Given the description of an element on the screen output the (x, y) to click on. 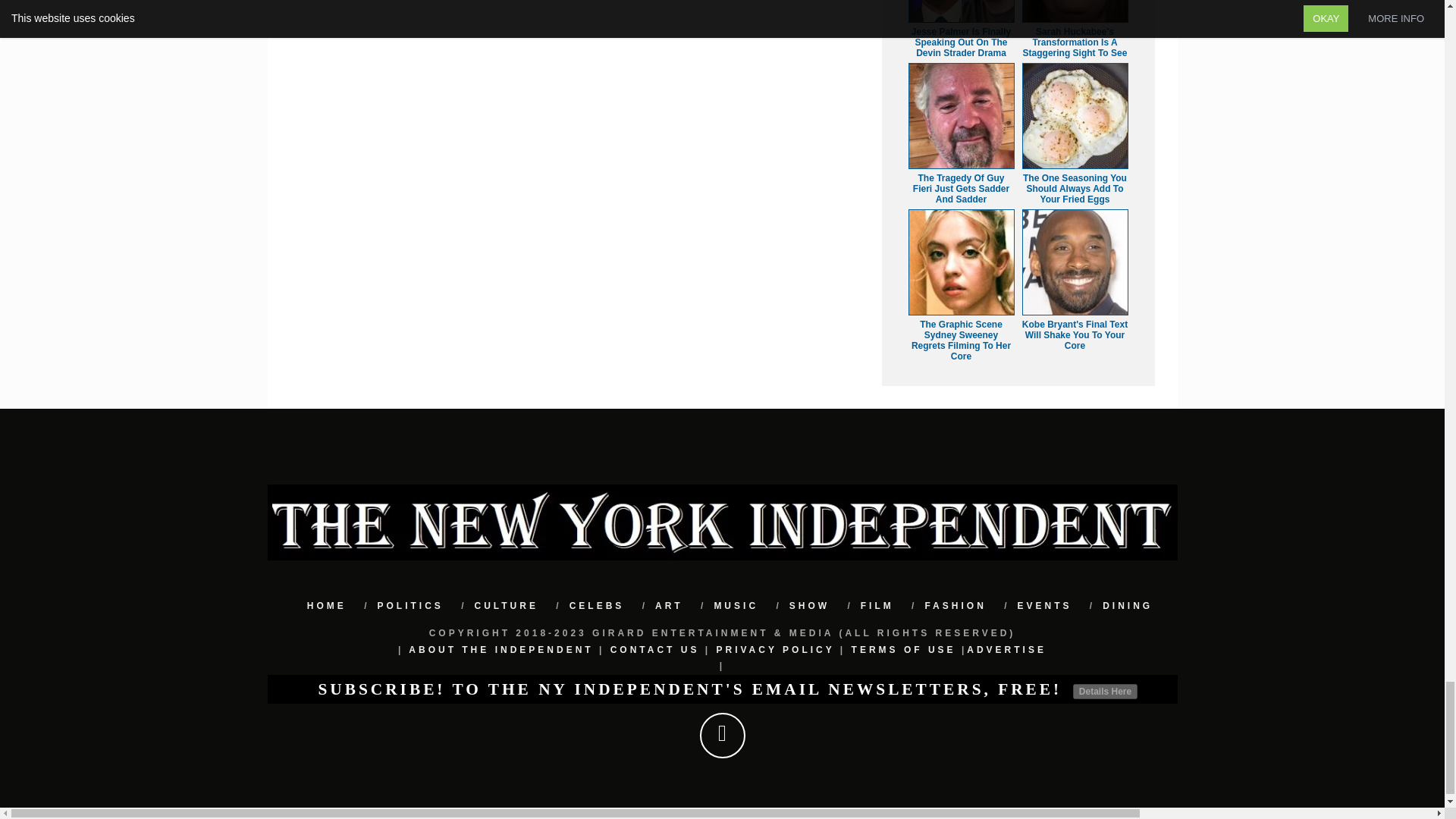
Details Here (1105, 691)
